Given the description of an element on the screen output the (x, y) to click on. 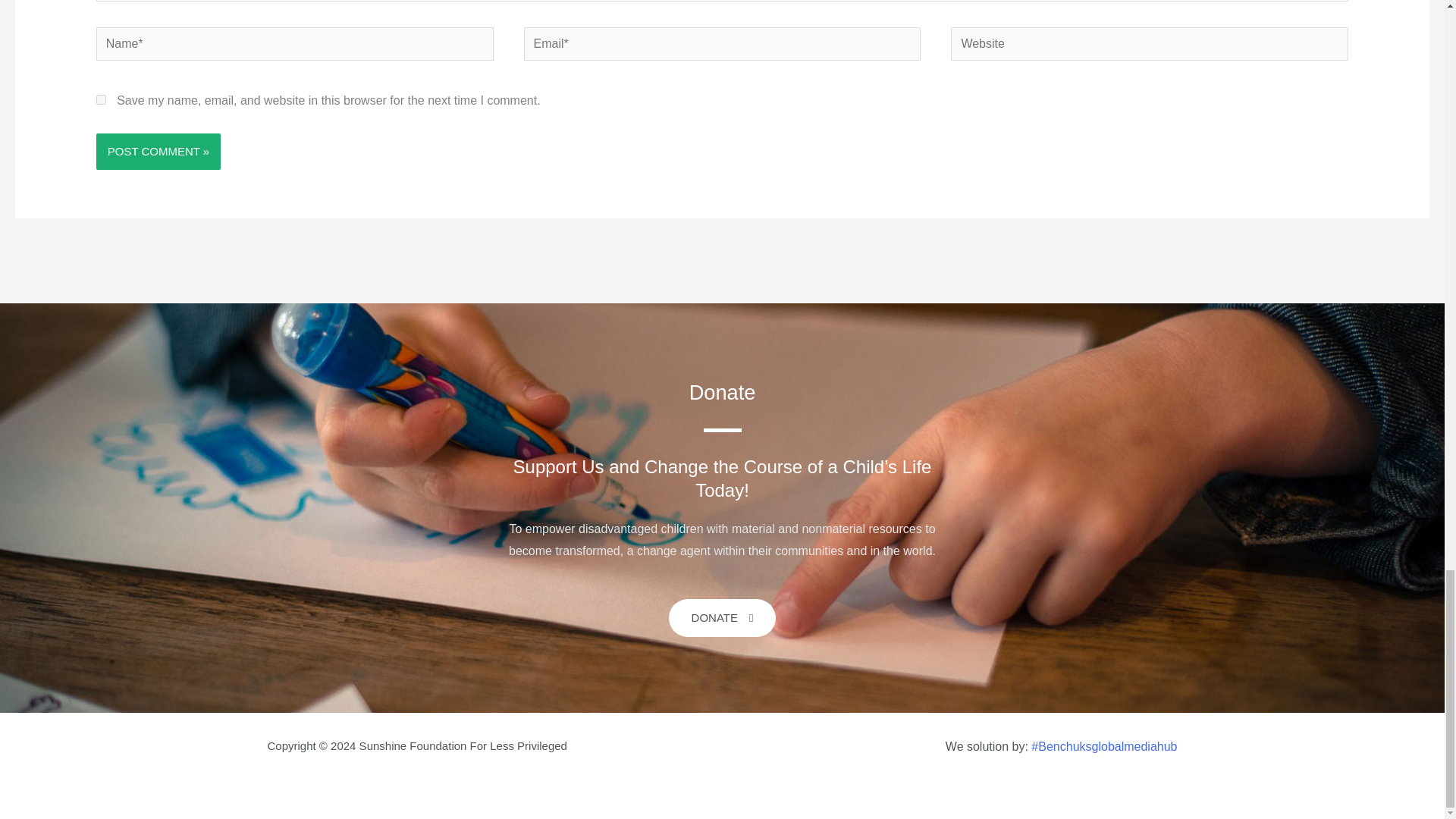
yes (101, 99)
DONATE (722, 617)
